Given the description of an element on the screen output the (x, y) to click on. 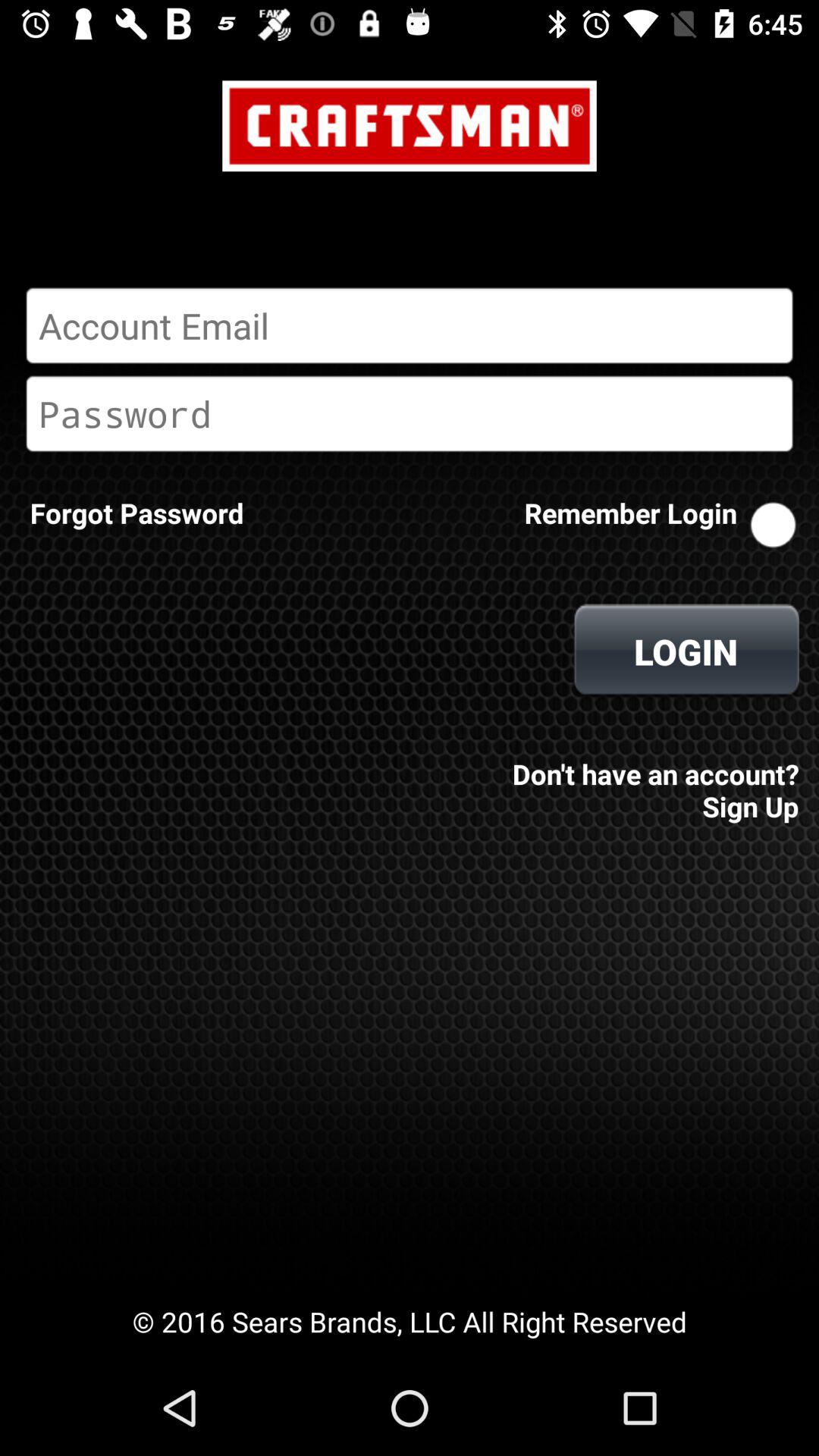
turn off the item below login (651, 780)
